Given the description of an element on the screen output the (x, y) to click on. 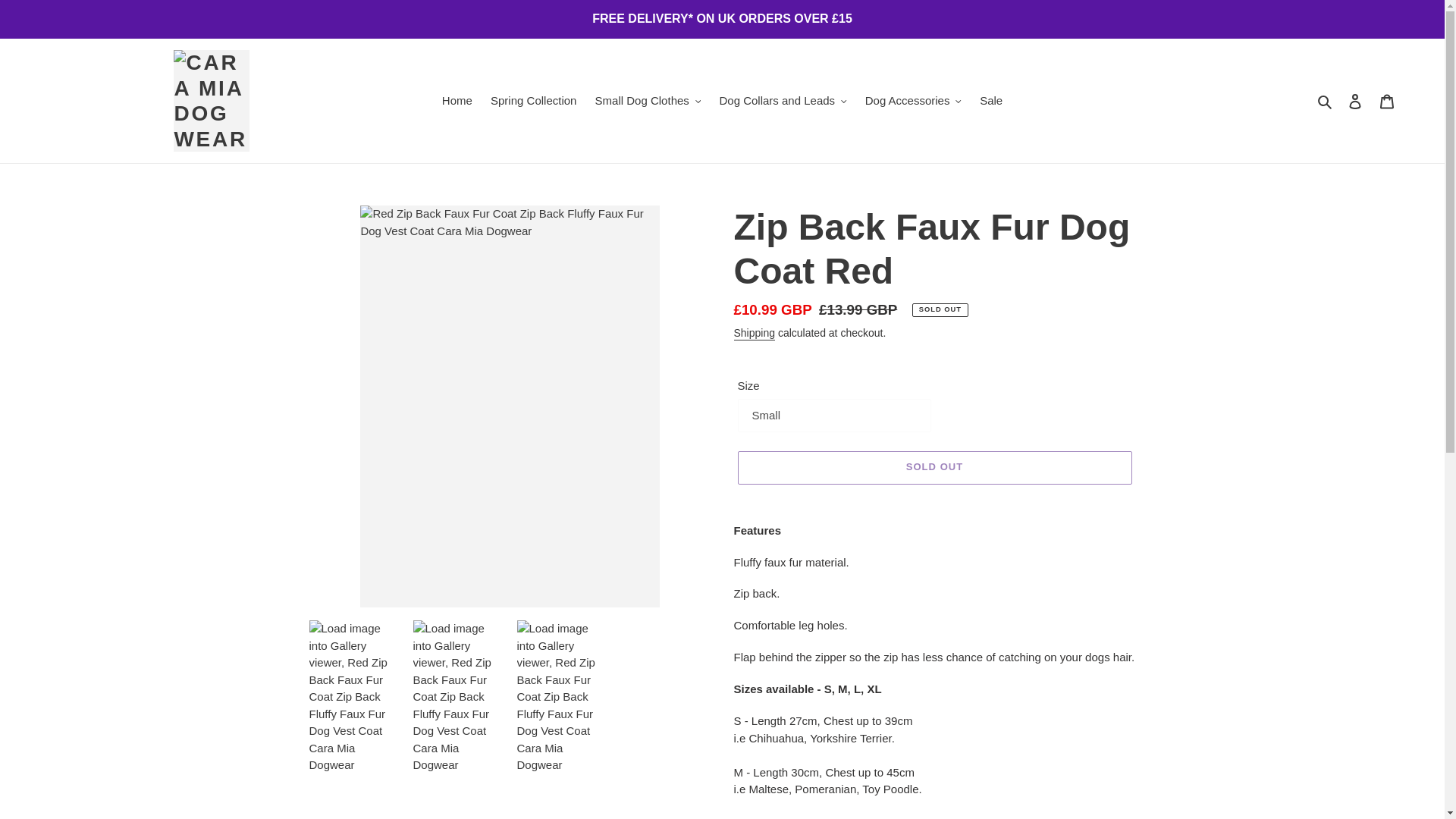
Spring Collection (533, 101)
Cart (1387, 101)
Search (1326, 100)
Home (456, 101)
Dog Accessories (913, 101)
Dog Collars and Leads (782, 101)
Log in (1355, 101)
Sale (991, 101)
Small Dog Clothes (648, 101)
